Given the description of an element on the screen output the (x, y) to click on. 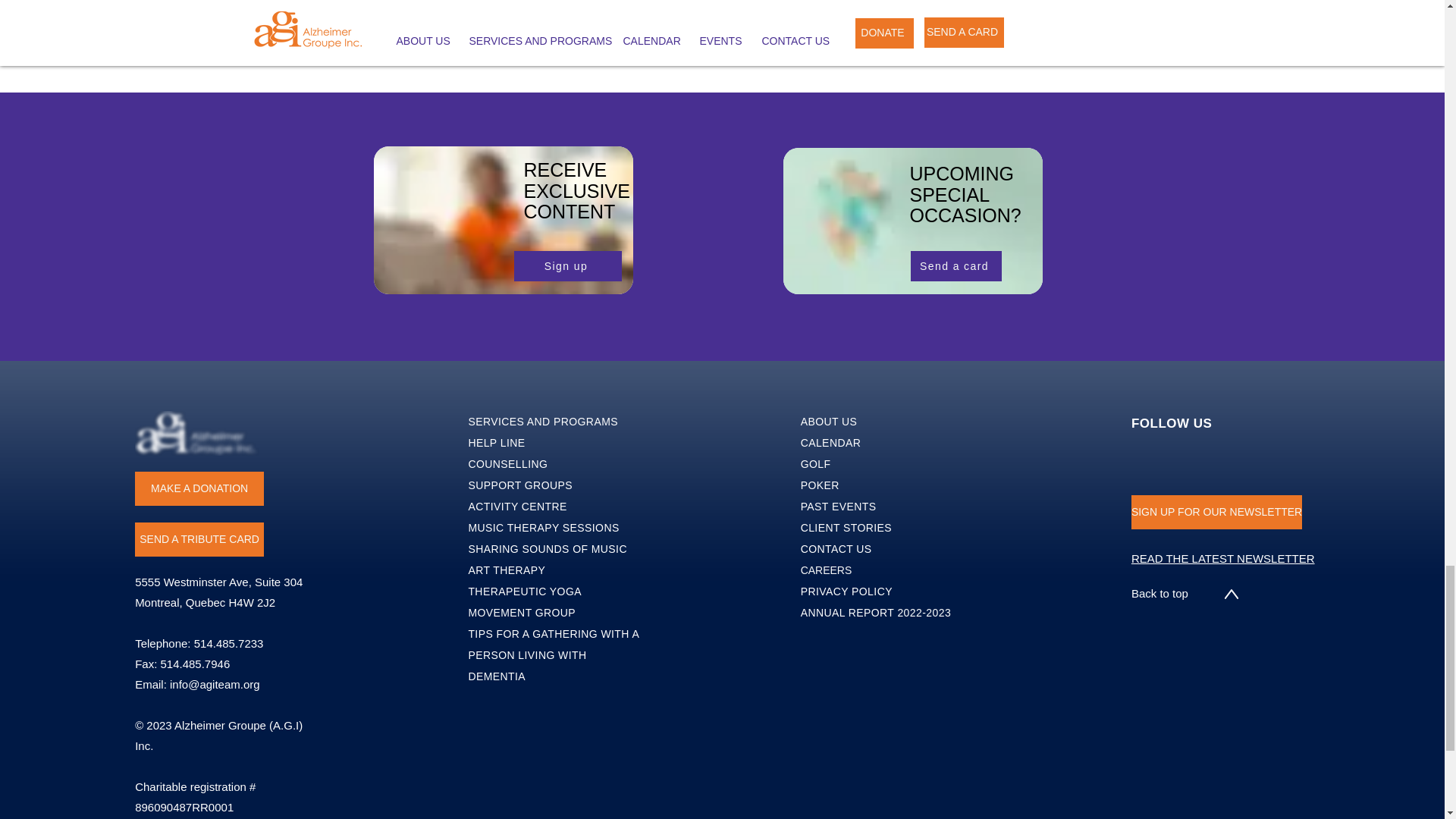
514.485.7233 (228, 643)
CAREERS (825, 570)
SUPPORT GROUPS (519, 485)
ABOUT US (828, 421)
ACTIVITY CENTRE (517, 506)
Sign up (567, 265)
THERAPEUTIC YOGA (523, 591)
MOVEMENT GROUP (521, 612)
CONTACT US (836, 548)
HELP LINE (495, 442)
